Given the description of an element on the screen output the (x, y) to click on. 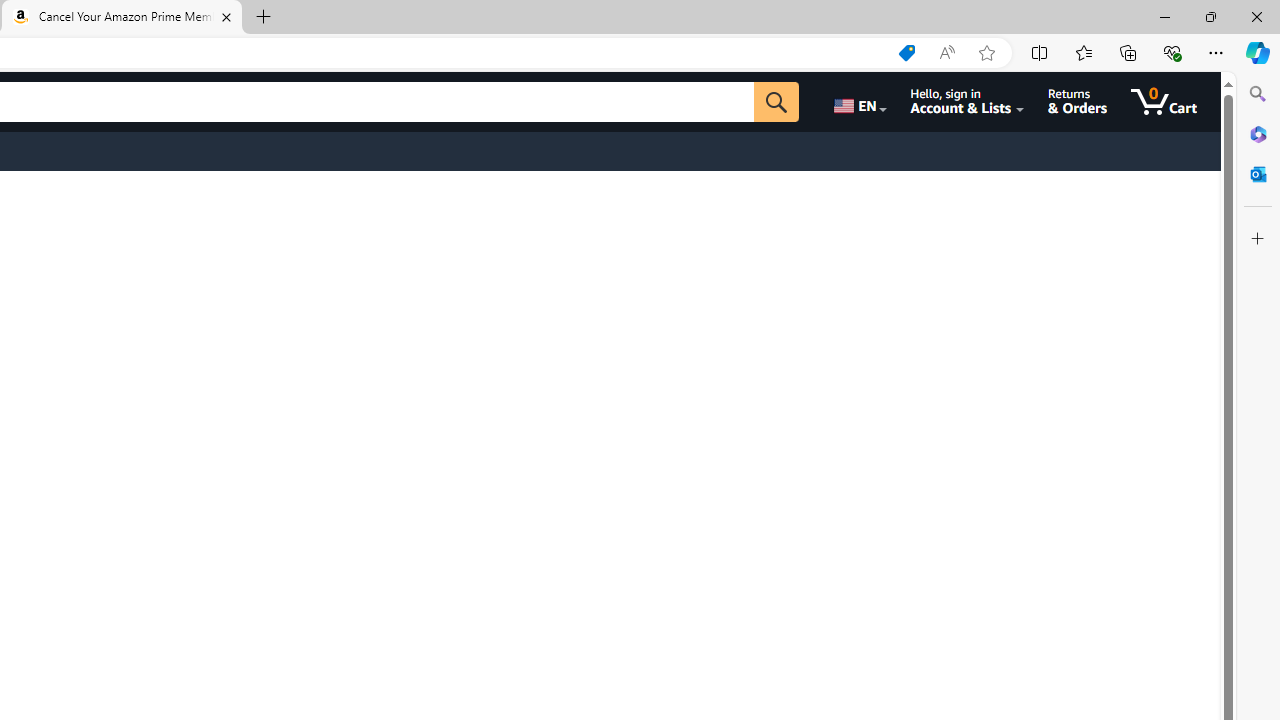
Hello, sign in Account & Lists (967, 101)
